Given the description of an element on the screen output the (x, y) to click on. 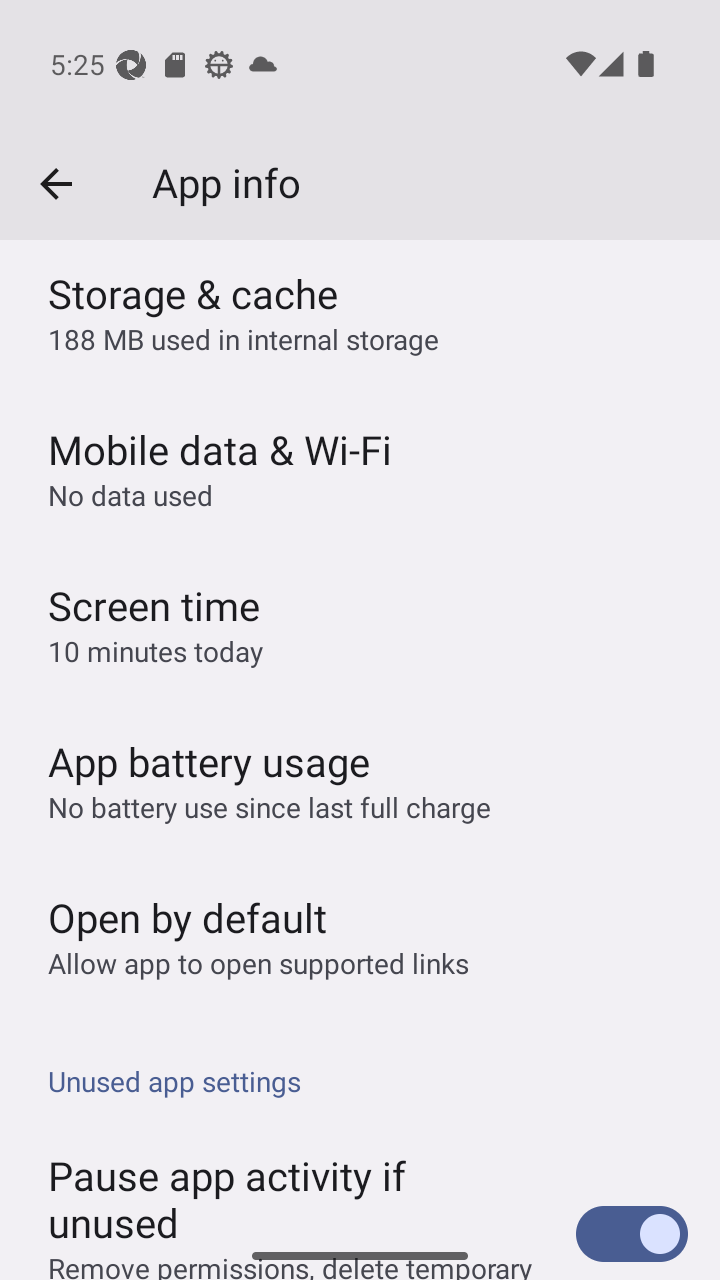
Navigate up (56, 184)
Storage & cache 188 MB used in internal storage (360, 315)
Mobile data & Wi‑Fi No data used (360, 468)
Screen time 10 minutes today (360, 623)
Open by default Allow app to open supported links (360, 935)
Pause app activity if unused (360, 1173)
